Given the description of an element on the screen output the (x, y) to click on. 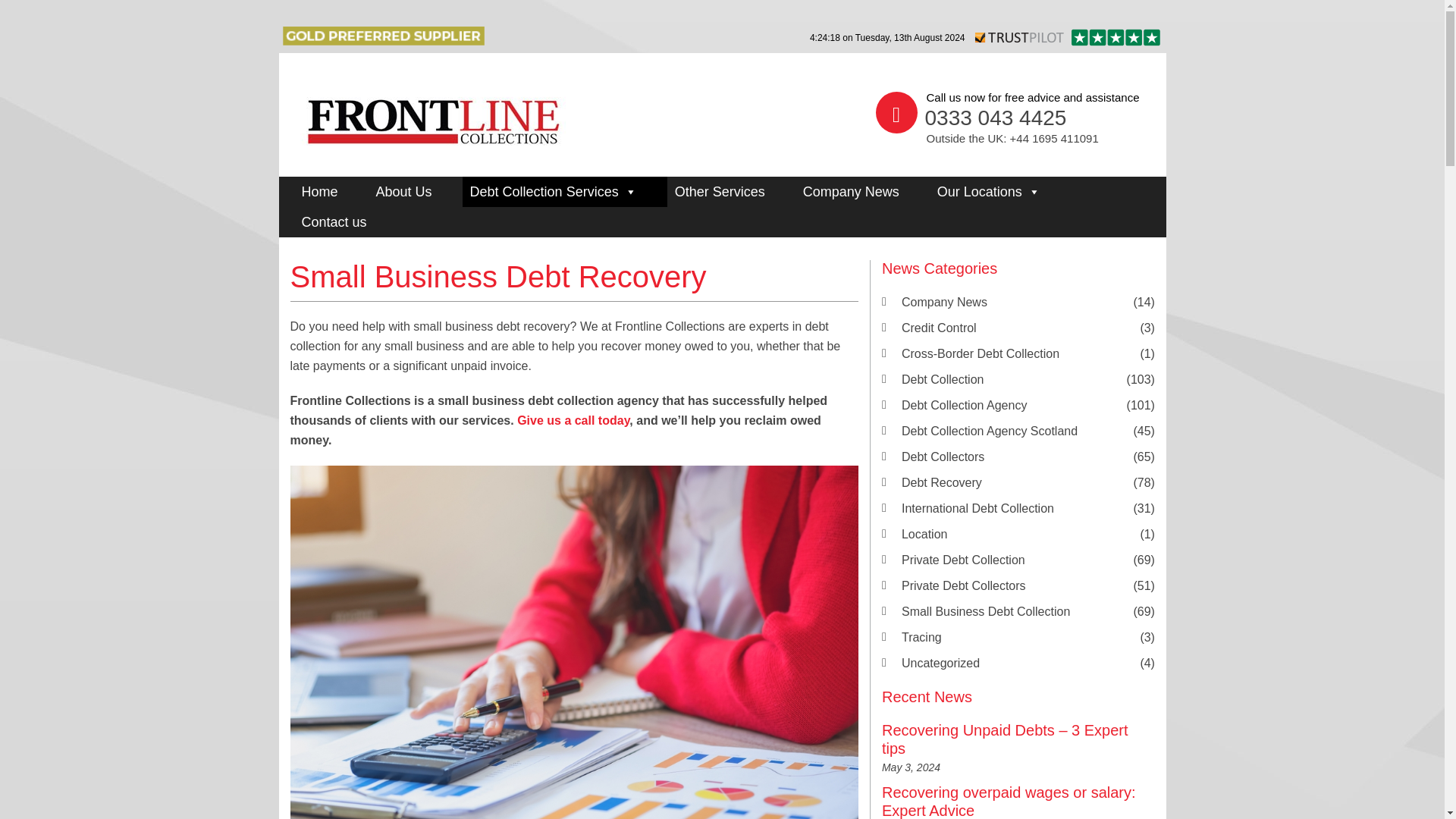
Give us a call today (572, 420)
About Us (415, 191)
0333 043 4425 (995, 117)
Debt Collection Services (564, 191)
Company News (862, 191)
Contact us (345, 222)
Home (331, 191)
Other Services (730, 191)
Our Locations (1000, 191)
